Given the description of an element on the screen output the (x, y) to click on. 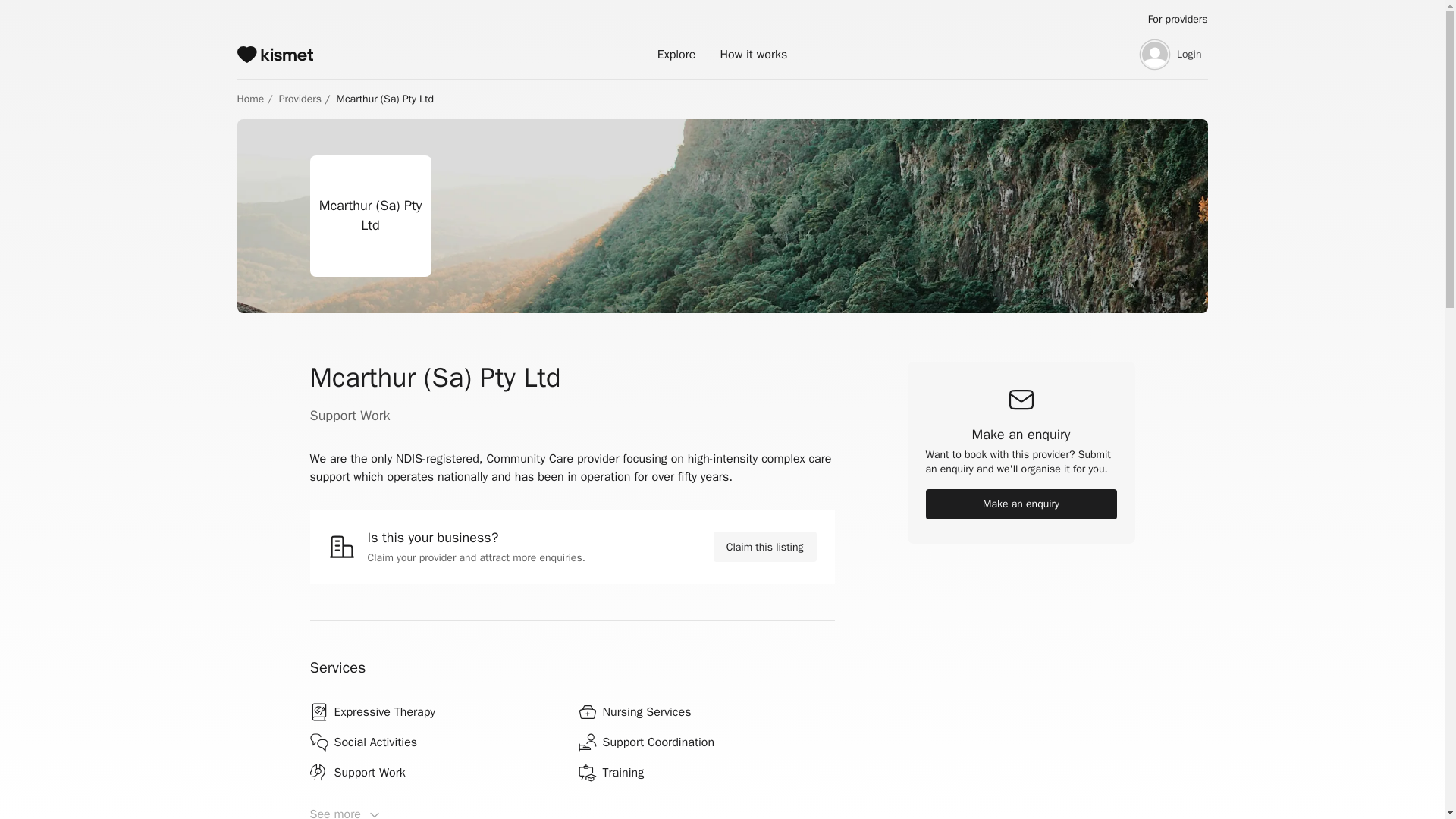
For providers (1178, 19)
Claim this listing (764, 546)
Make an enquiry (1020, 503)
See more (571, 812)
Login (1169, 54)
How it works (753, 54)
